Given the description of an element on the screen output the (x, y) to click on. 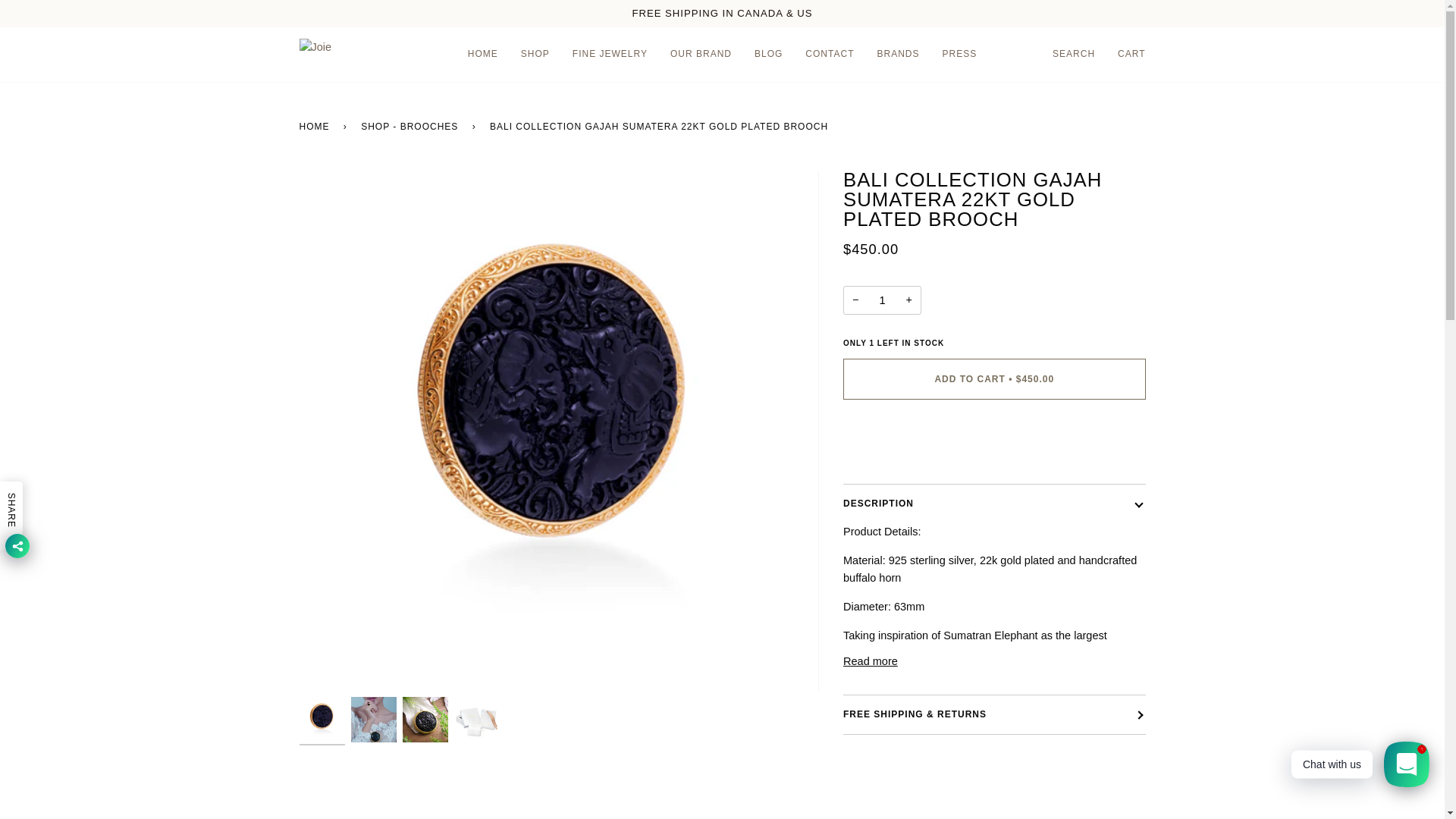
1 (882, 300)
Back to the frontpage (316, 126)
SHOP (534, 54)
HOME (483, 54)
